Given the description of an element on the screen output the (x, y) to click on. 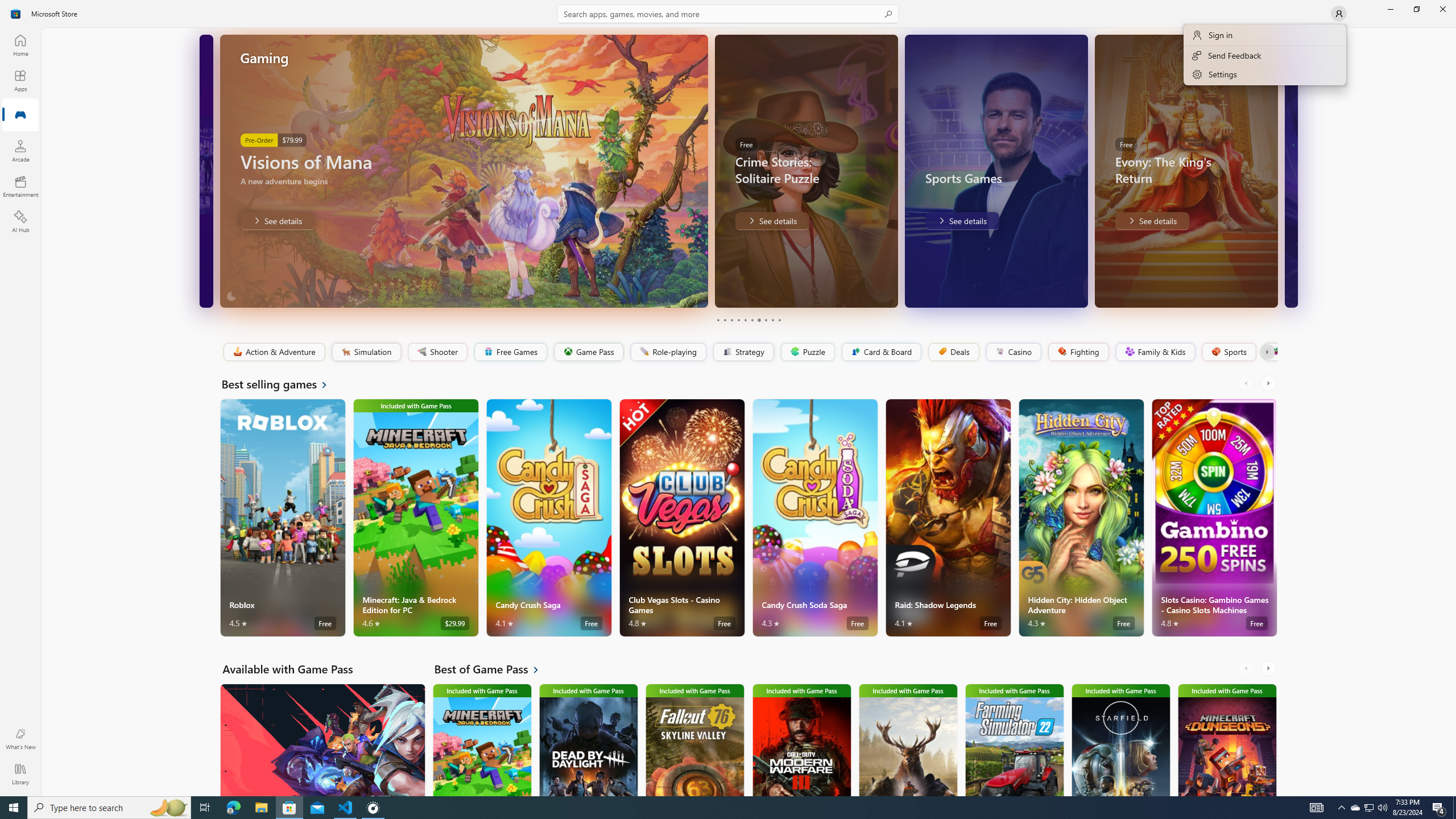
Sports Games. Play Today!.  . See details (961, 221)
Free Games (509, 352)
Page 10 (779, 319)
Page 7 (758, 319)
Fighting (1078, 352)
Page 6 (751, 319)
